Given the description of an element on the screen output the (x, y) to click on. 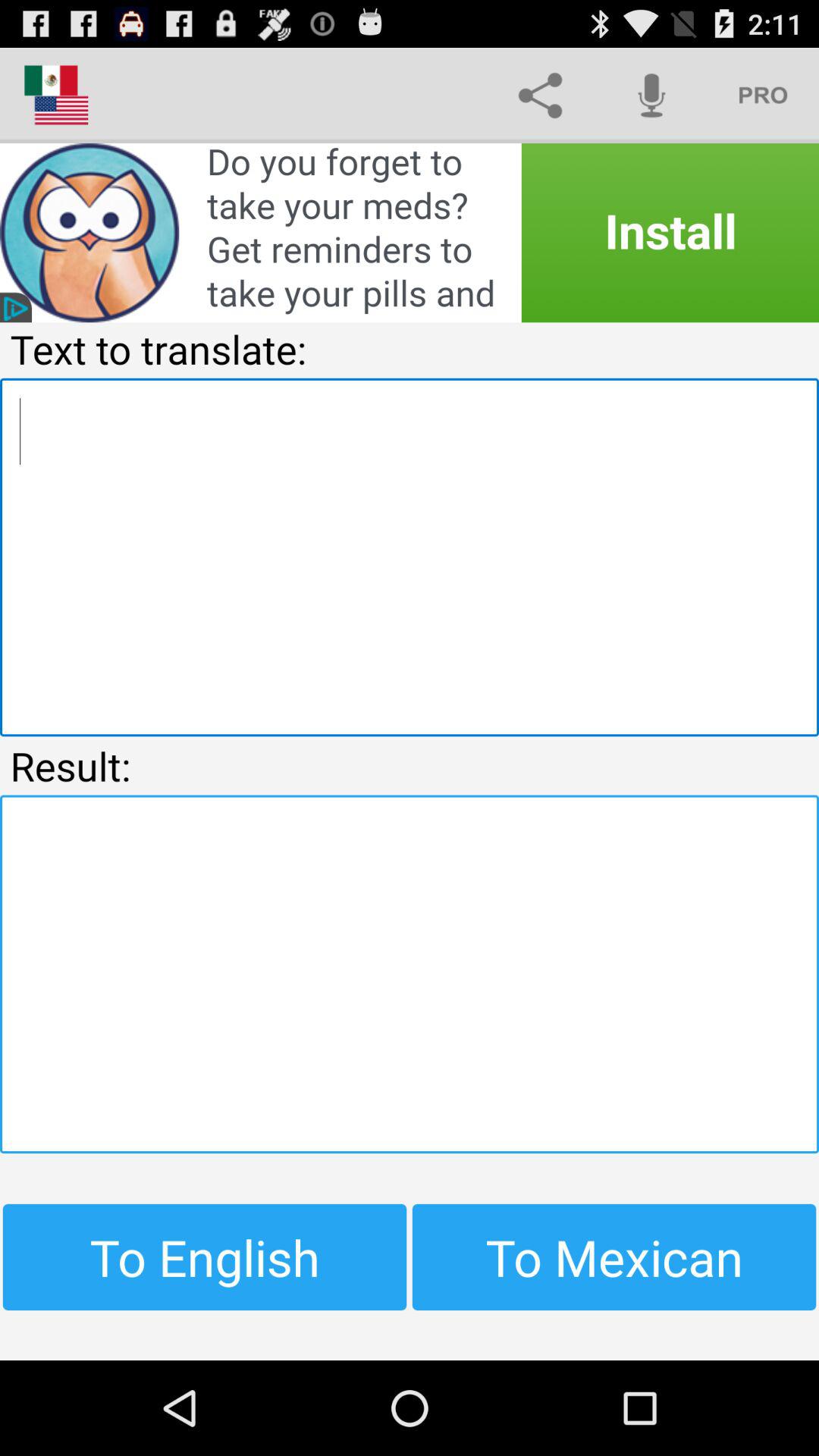
showing result (409, 974)
